Given the description of an element on the screen output the (x, y) to click on. 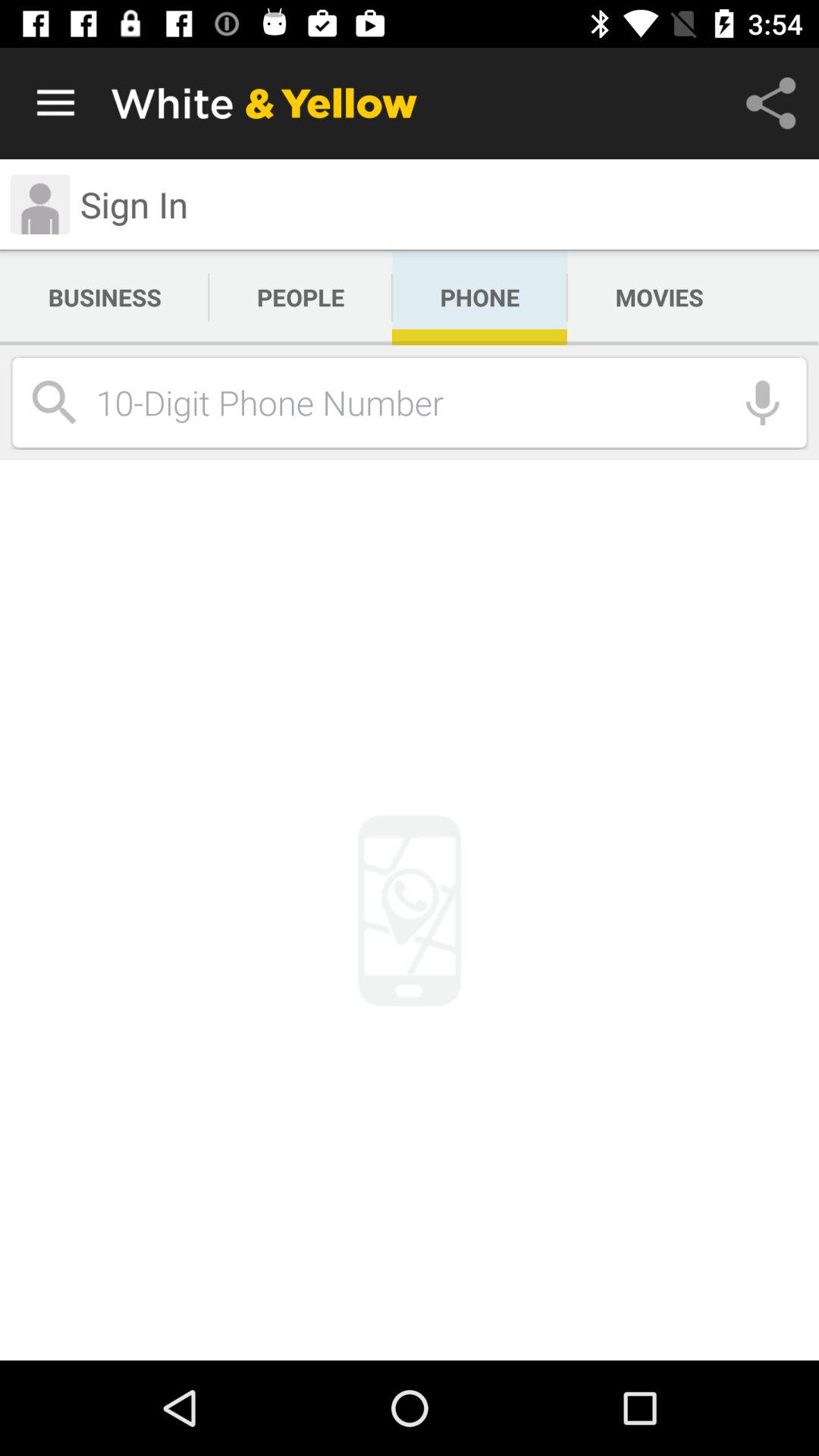
turn on phone icon (479, 297)
